Given the description of an element on the screen output the (x, y) to click on. 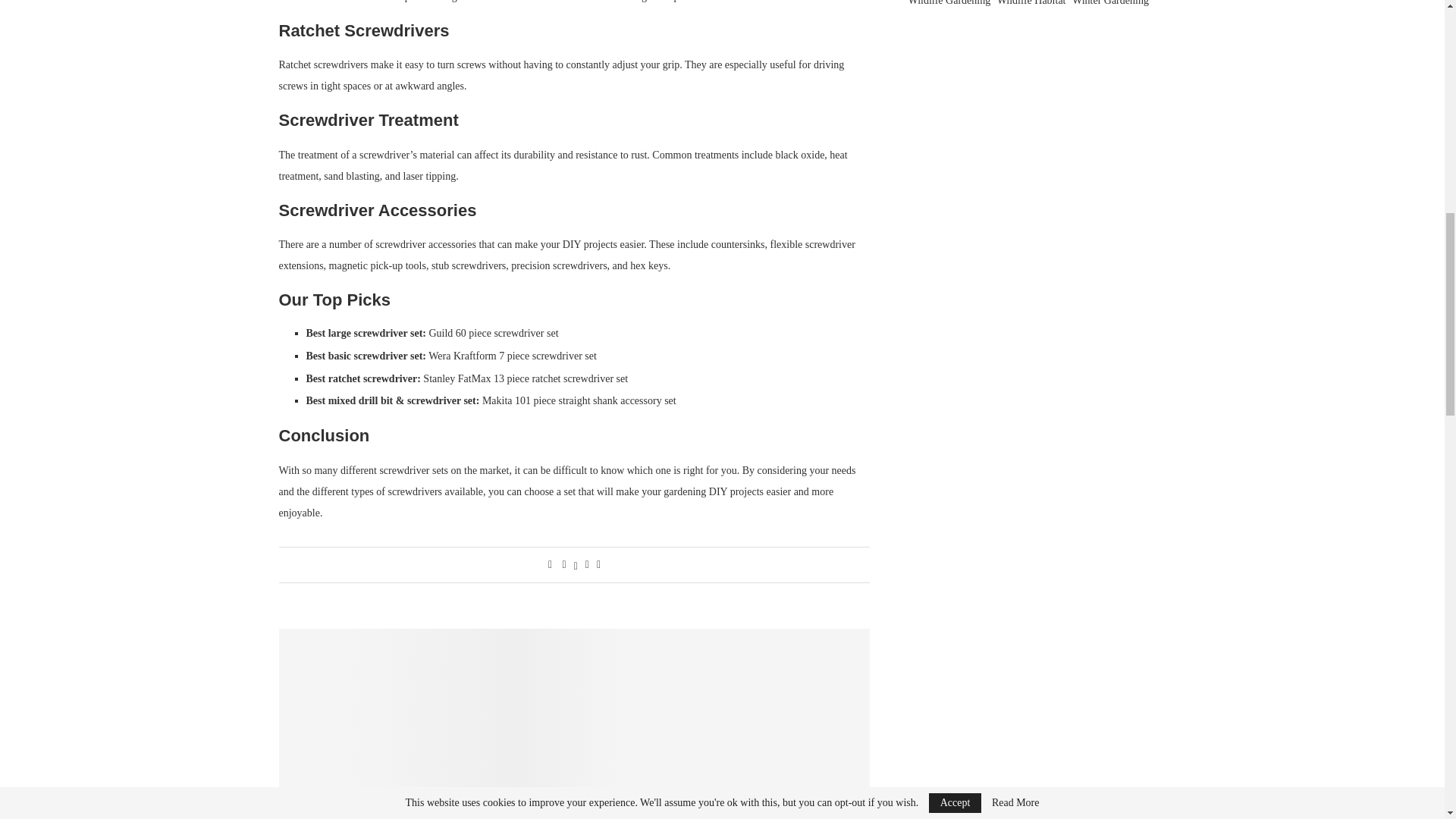
nohcunaoj (574, 723)
